Given the description of an element on the screen output the (x, y) to click on. 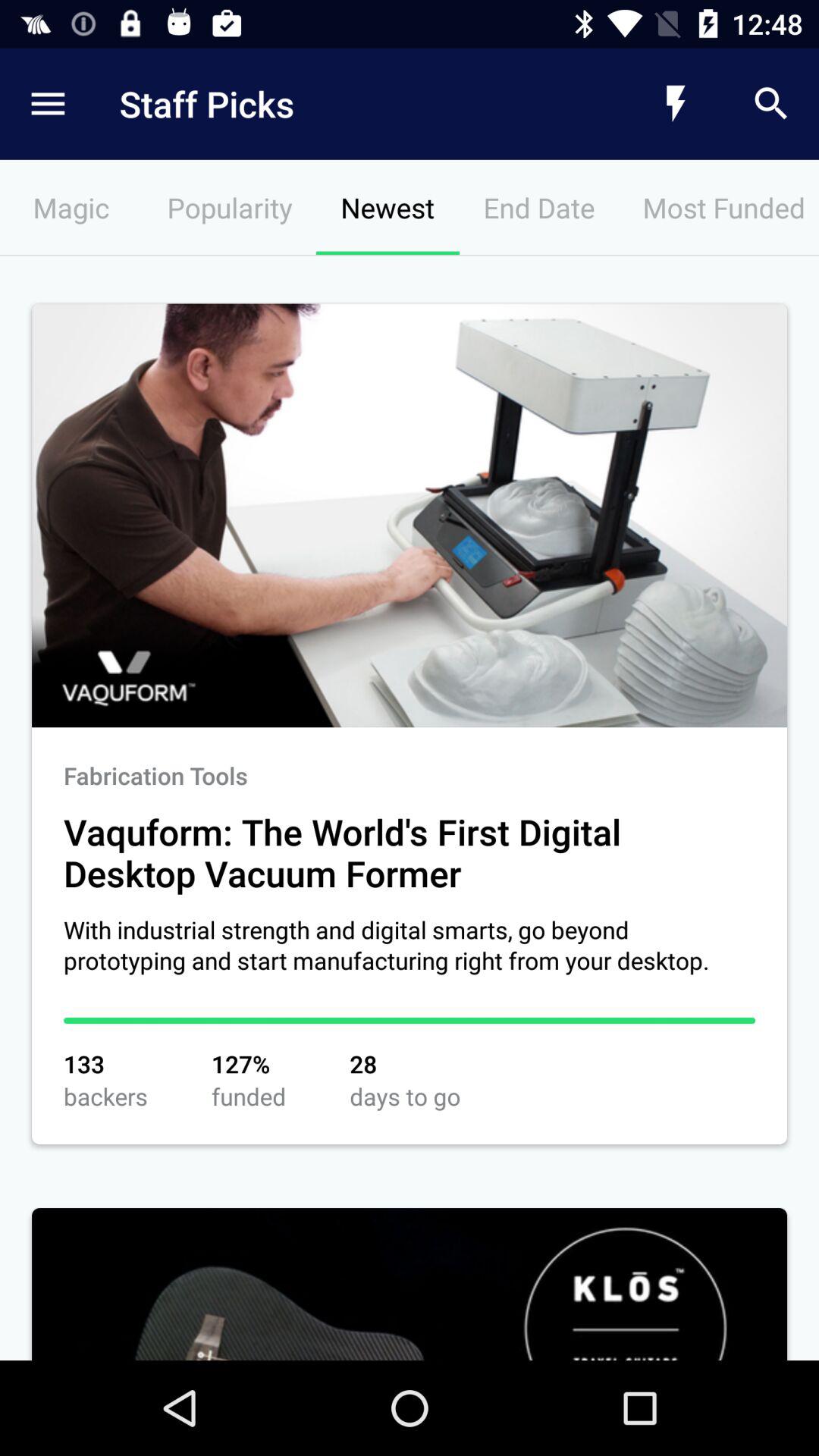
tap icon to the left of the staff picks icon (47, 103)
